Given the description of an element on the screen output the (x, y) to click on. 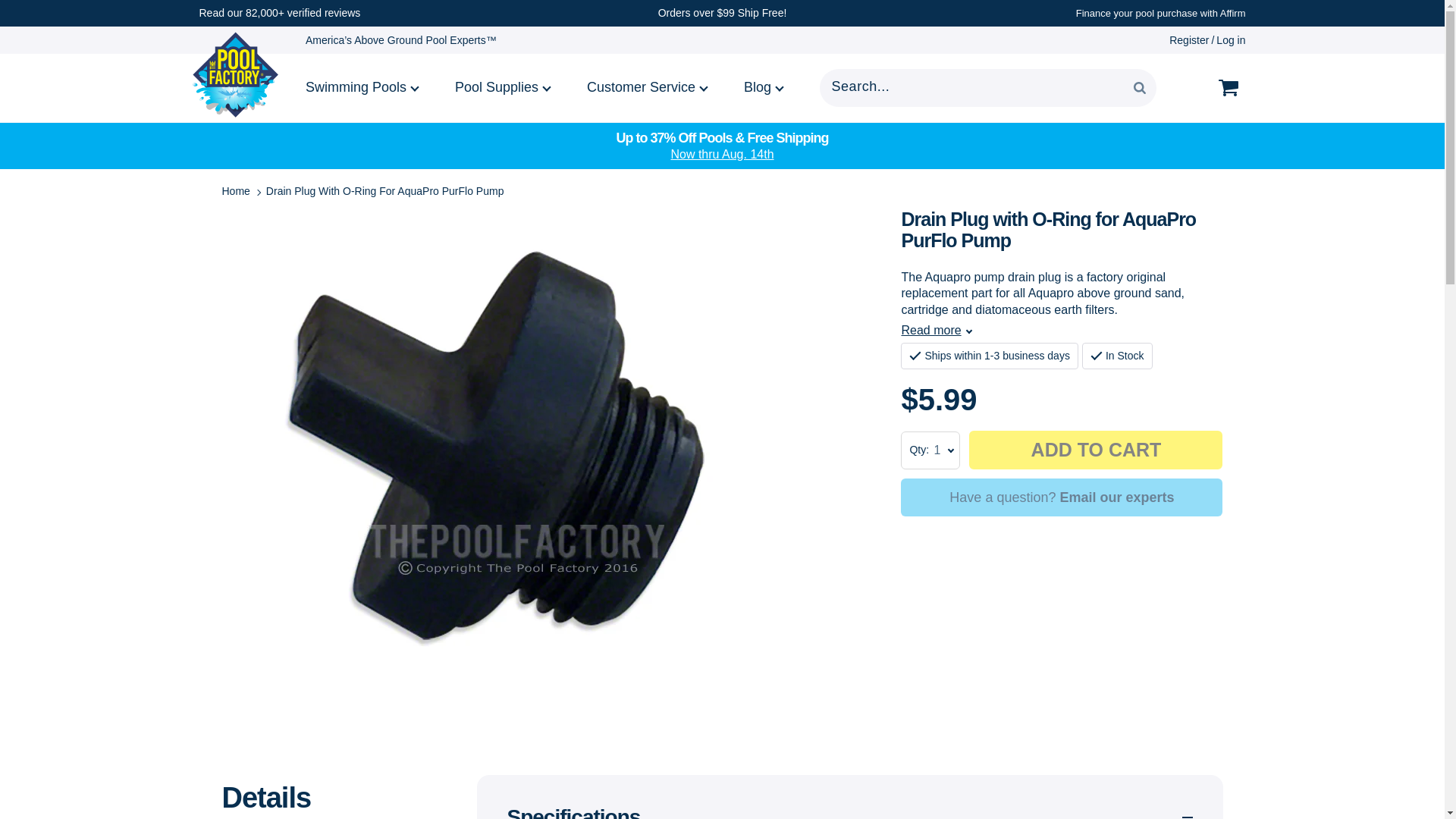
Pool Supplies (503, 87)
The Pool Factory (235, 74)
Swimming Pools (363, 87)
Log in (1229, 39)
Register (1188, 39)
Customer Service (648, 87)
